Given the description of an element on the screen output the (x, y) to click on. 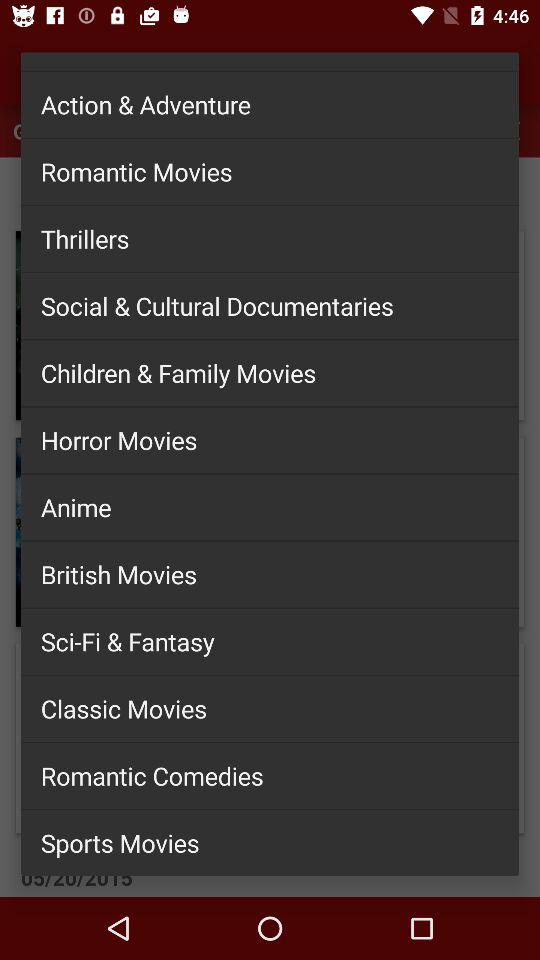
turn on the icon above the    british movies (269, 507)
